Given the description of an element on the screen output the (x, y) to click on. 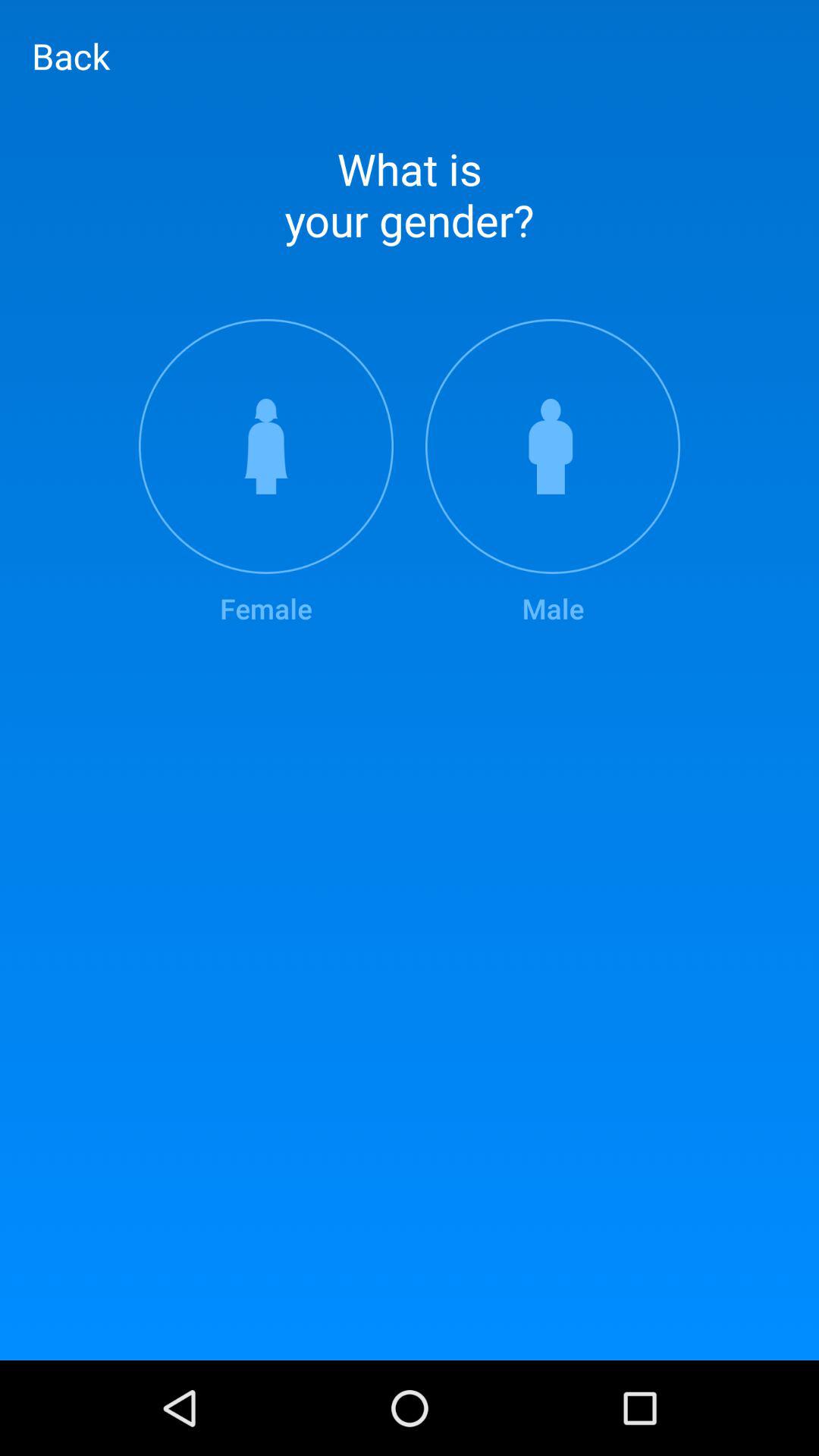
press the item next to the male (265, 473)
